Given the description of an element on the screen output the (x, y) to click on. 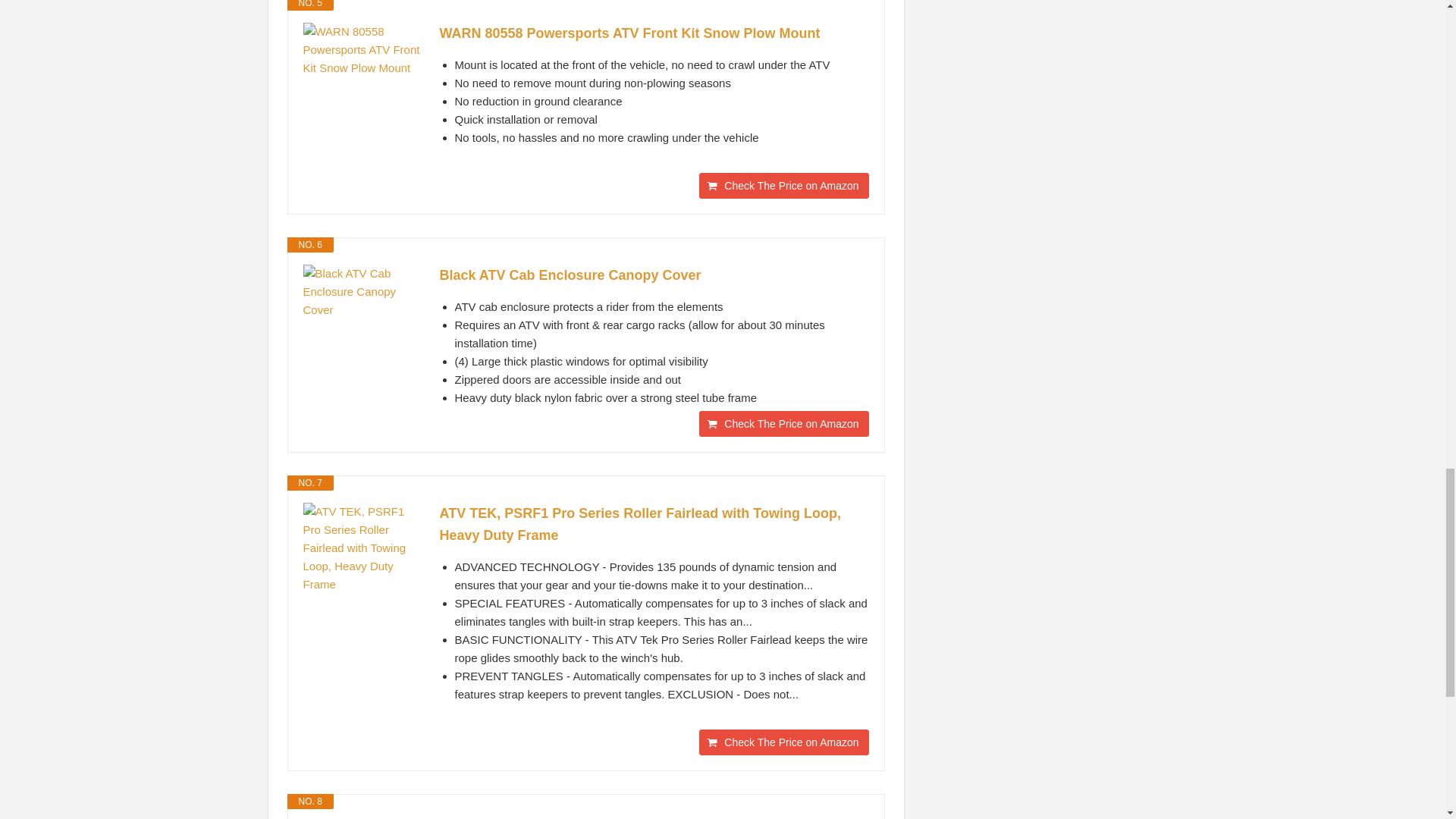
Black ATV Cab Enclosure Canopy Cover (654, 275)
Check The Price on Amazon (782, 742)
WARN 80558 Powersports ATV Front Kit Snow Plow Mount (654, 33)
Check The Price on Amazon (782, 185)
Check The Price on Amazon (782, 423)
